Given the description of an element on the screen output the (x, y) to click on. 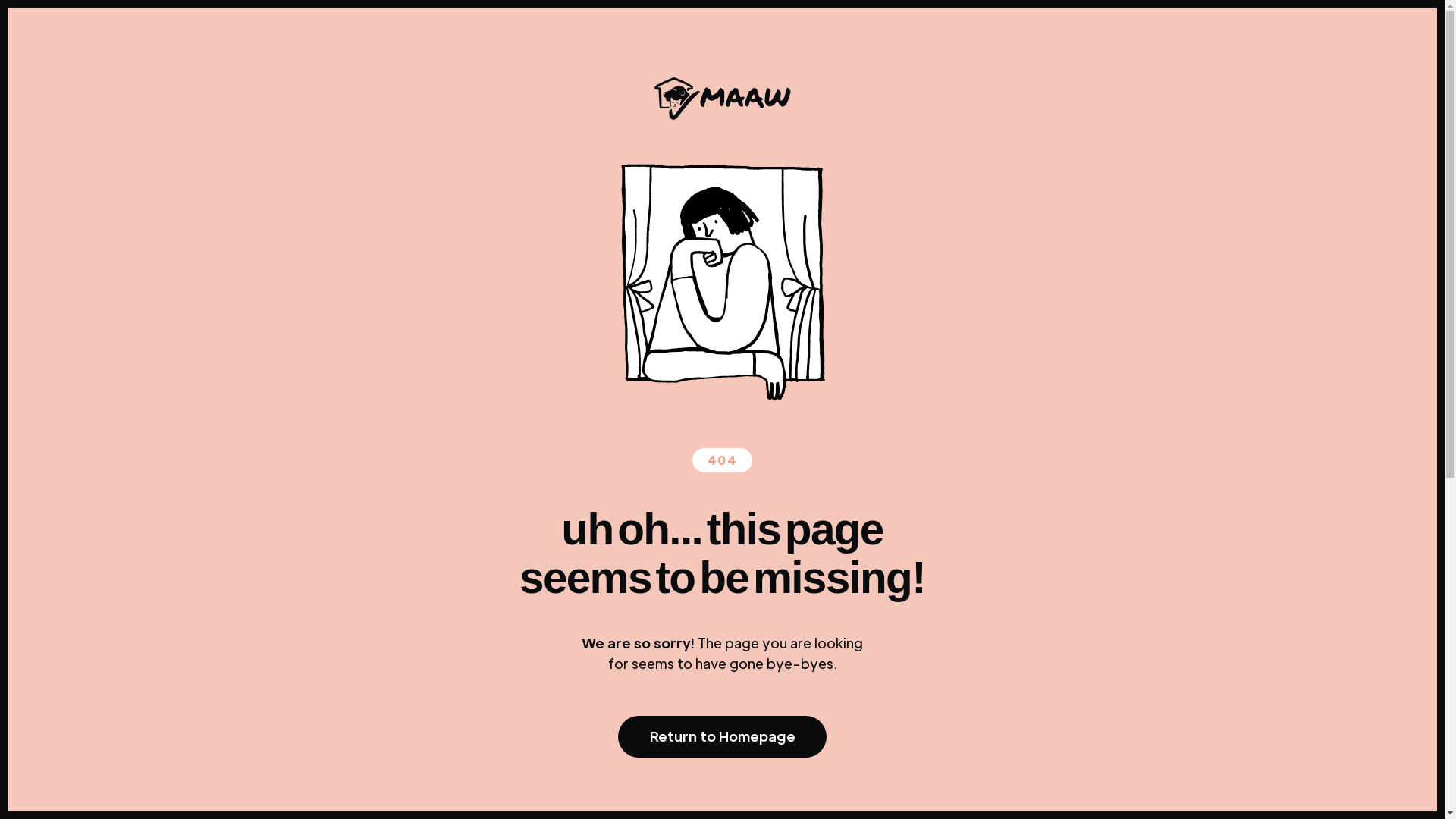
Return to Homepage Element type: text (722, 736)
